Given the description of an element on the screen output the (x, y) to click on. 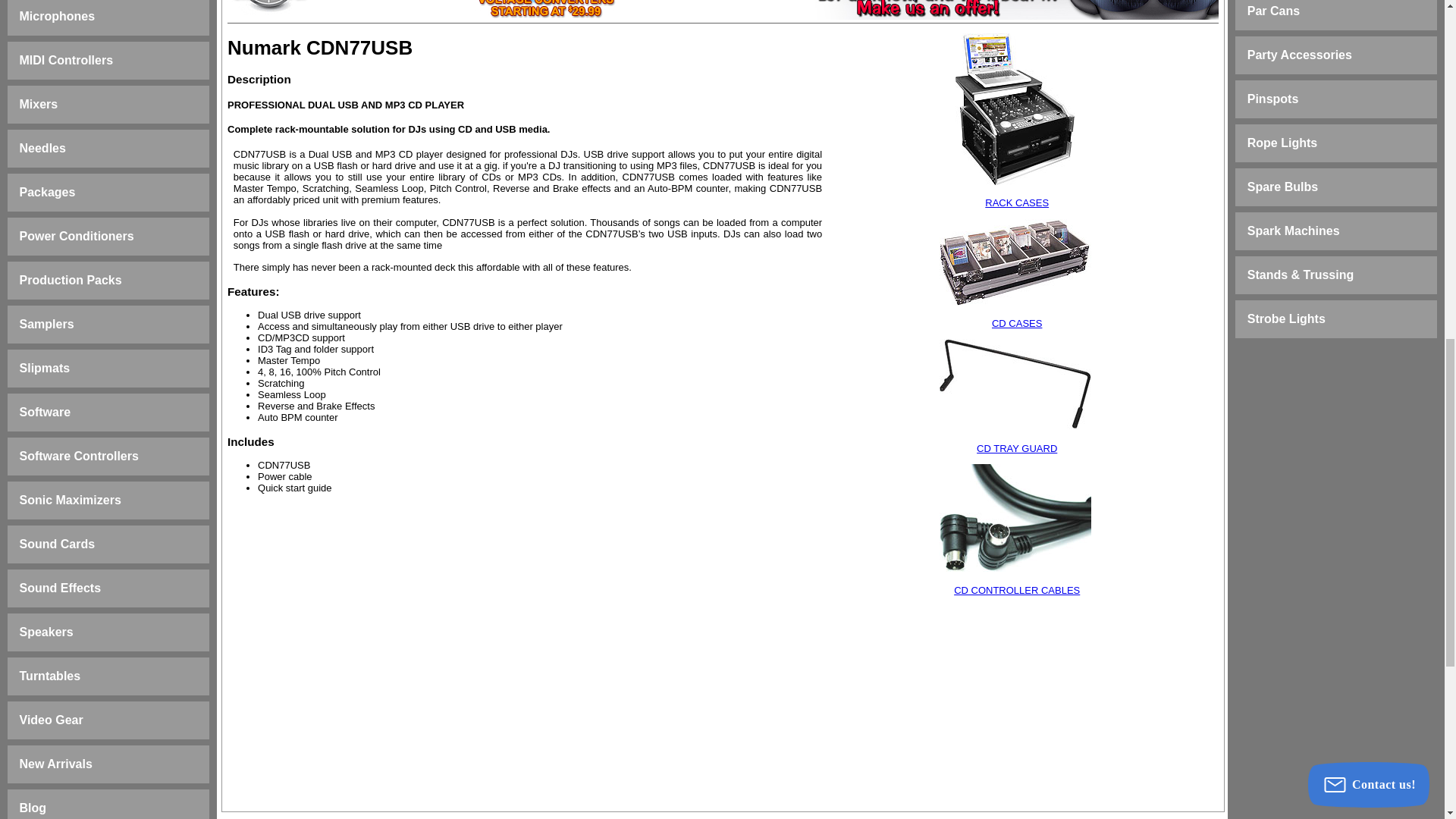
Packages (47, 192)
Production Packs (71, 279)
Sound Effects (60, 587)
Slipmats (44, 367)
MIDI Controllers (66, 60)
Turntables (50, 675)
Video Gear (51, 719)
Power Conditioners (76, 236)
Blog (33, 807)
Software Controllers (79, 455)
Microphones (58, 15)
Microphones (58, 15)
Needles (42, 147)
Samplers (47, 323)
MIDI Controllers (66, 60)
